Given the description of an element on the screen output the (x, y) to click on. 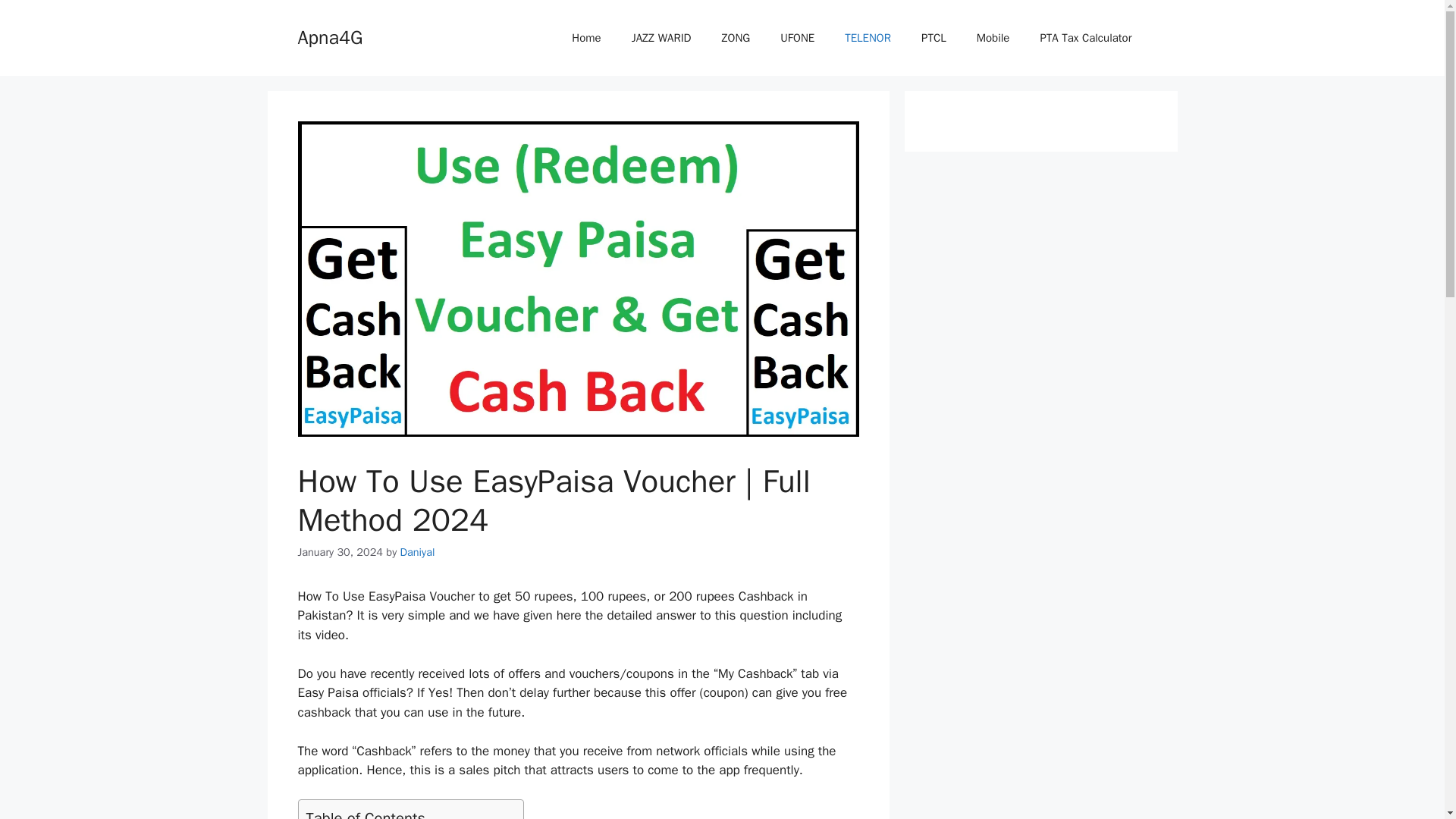
TELENOR (867, 37)
Home (585, 37)
JAZZ WARID (660, 37)
View all posts by Daniyal (417, 551)
PTCL (932, 37)
PTA Tax Calculator (1086, 37)
Apna4G (329, 37)
UFONE (797, 37)
Daniyal (417, 551)
Mobile (992, 37)
